Given the description of an element on the screen output the (x, y) to click on. 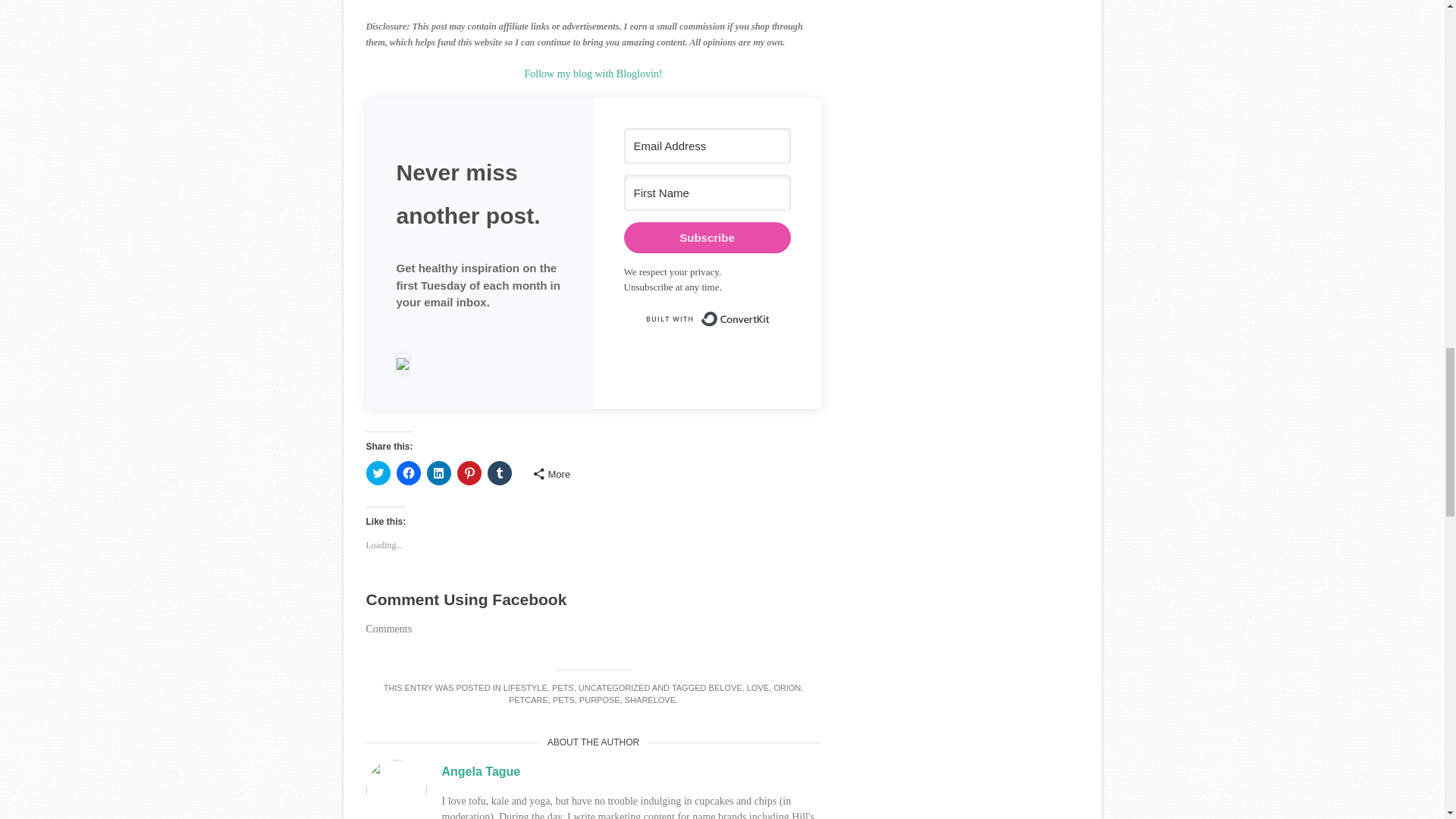
PETS (564, 699)
Subscribe (706, 237)
Click to share on LinkedIn (437, 473)
ORION (786, 687)
Click to share on Facebook (408, 473)
UNCATEGORIZED (614, 687)
More (551, 473)
LIFESTYLE (525, 687)
PETCARE (528, 699)
BELOVE (725, 687)
Follow my blog with Bloglovin! (593, 73)
Angela Tague (480, 771)
PETS (562, 687)
LOVE (757, 687)
Built with ConvertKit (707, 318)
